Given the description of an element on the screen output the (x, y) to click on. 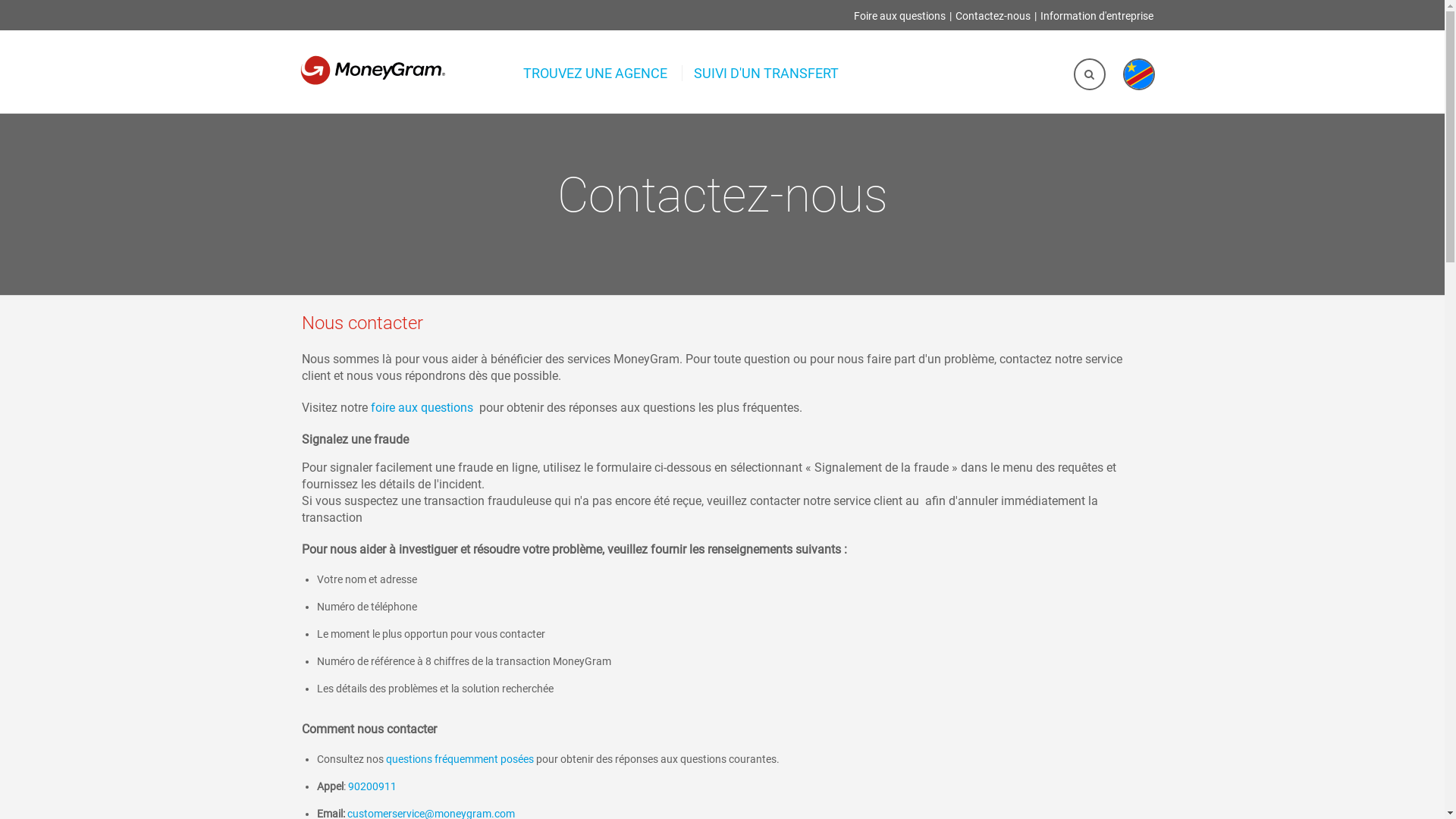
Foire aux questions Element type: text (899, 16)
90200911 Element type: text (371, 786)
SUIVI D'UN TRANSFERT Element type: text (765, 73)
Information d'entreprise Element type: text (1096, 16)
TROUVEZ UNE AGENCE Element type: text (596, 73)
foire aux questions Element type: text (421, 407)
Contactez-nous Element type: text (992, 16)
